Given the description of an element on the screen output the (x, y) to click on. 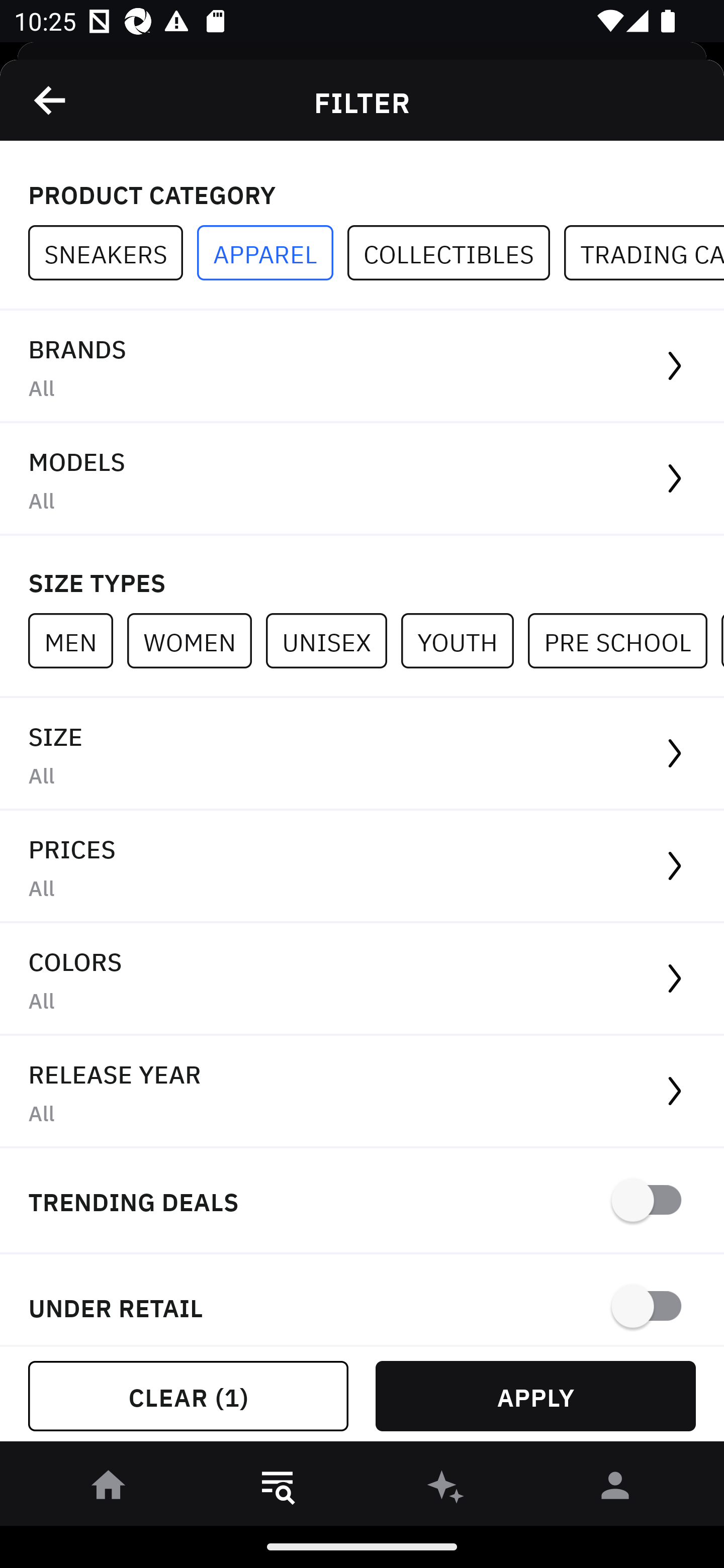
 (50, 100)
SNEAKERS (112, 252)
APPAREL (271, 252)
COLLECTIBLES (455, 252)
TRADING CARDS (643, 252)
BRANDS All (362, 366)
MODELS All (362, 479)
MEN (77, 640)
WOMEN (196, 640)
UNISEX (333, 640)
YOUTH (464, 640)
PRE SCHOOL (624, 640)
SIZE All (362, 753)
PRICES All (362, 866)
COLORS All (362, 979)
RELEASE YEAR All (362, 1091)
TRENDING DEALS (362, 1200)
UNDER RETAIL (362, 1299)
CLEAR (1) (188, 1396)
APPLY (535, 1396)
󰋜 (108, 1488)
󱎸 (277, 1488)
󰫢 (446, 1488)
󰀄 (615, 1488)
